Given the description of an element on the screen output the (x, y) to click on. 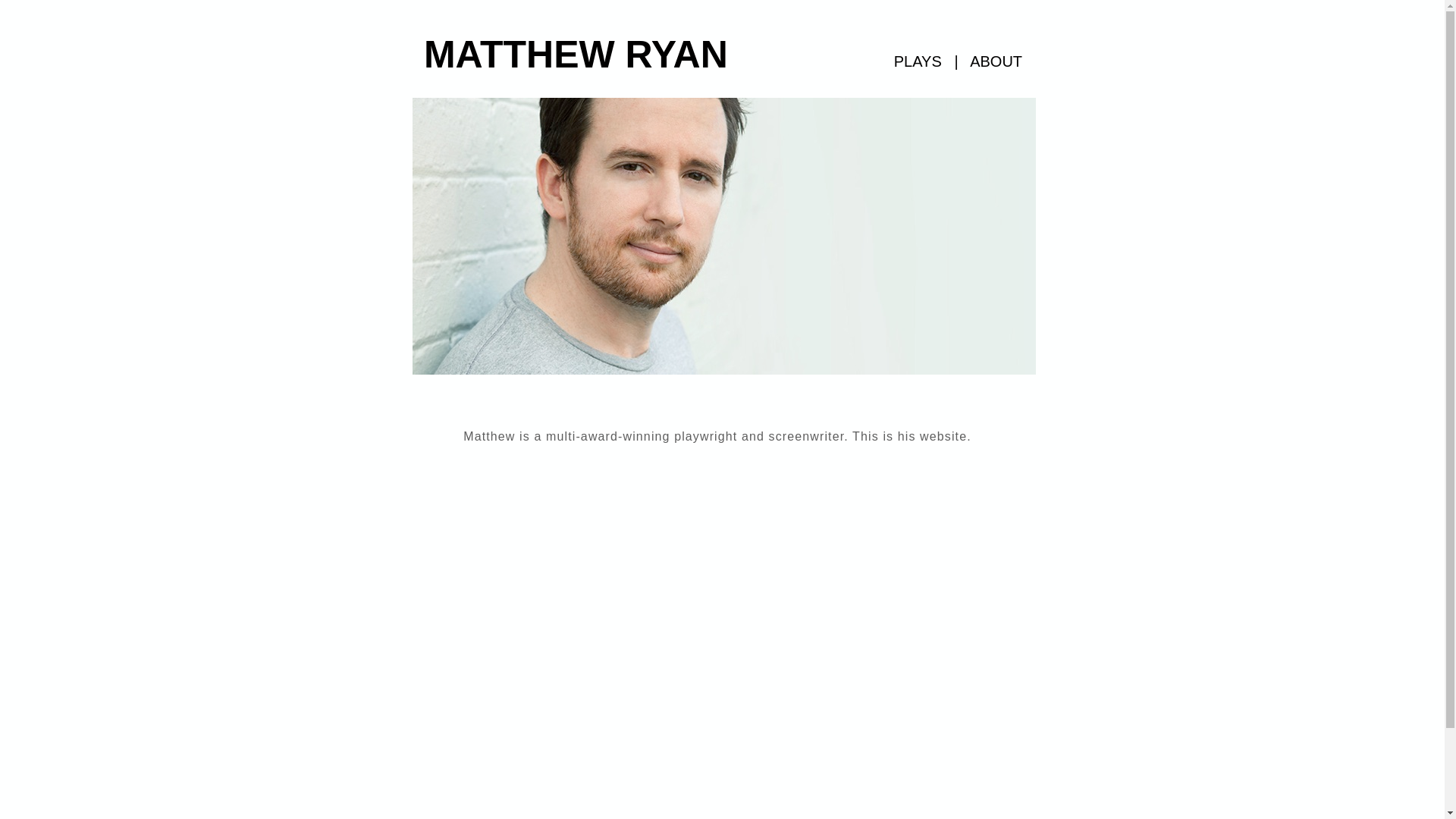
PLAYS Element type: text (917, 61)
MATTHEW RYAN Element type: text (575, 54)
ABOUT Element type: text (995, 61)
